Given the description of an element on the screen output the (x, y) to click on. 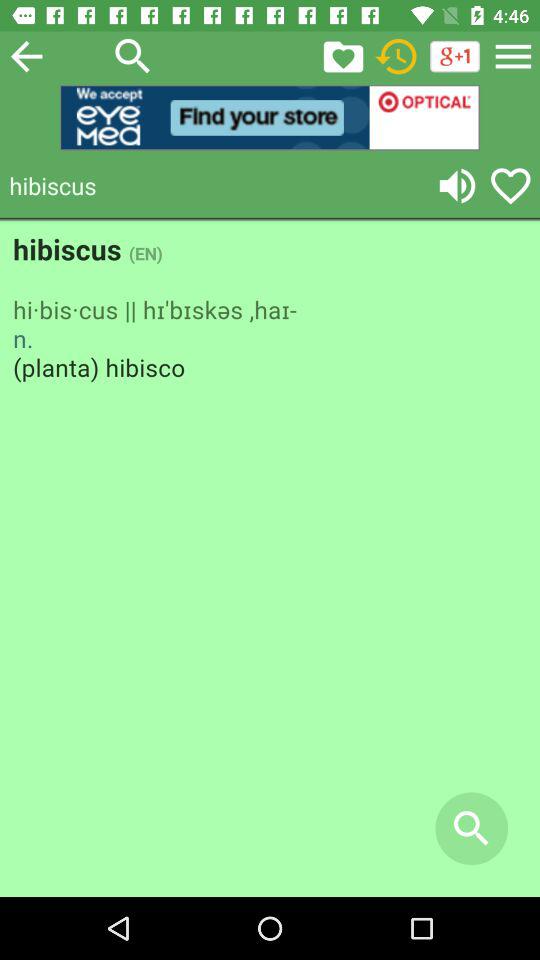
click to menu option (513, 56)
